Given the description of an element on the screen output the (x, y) to click on. 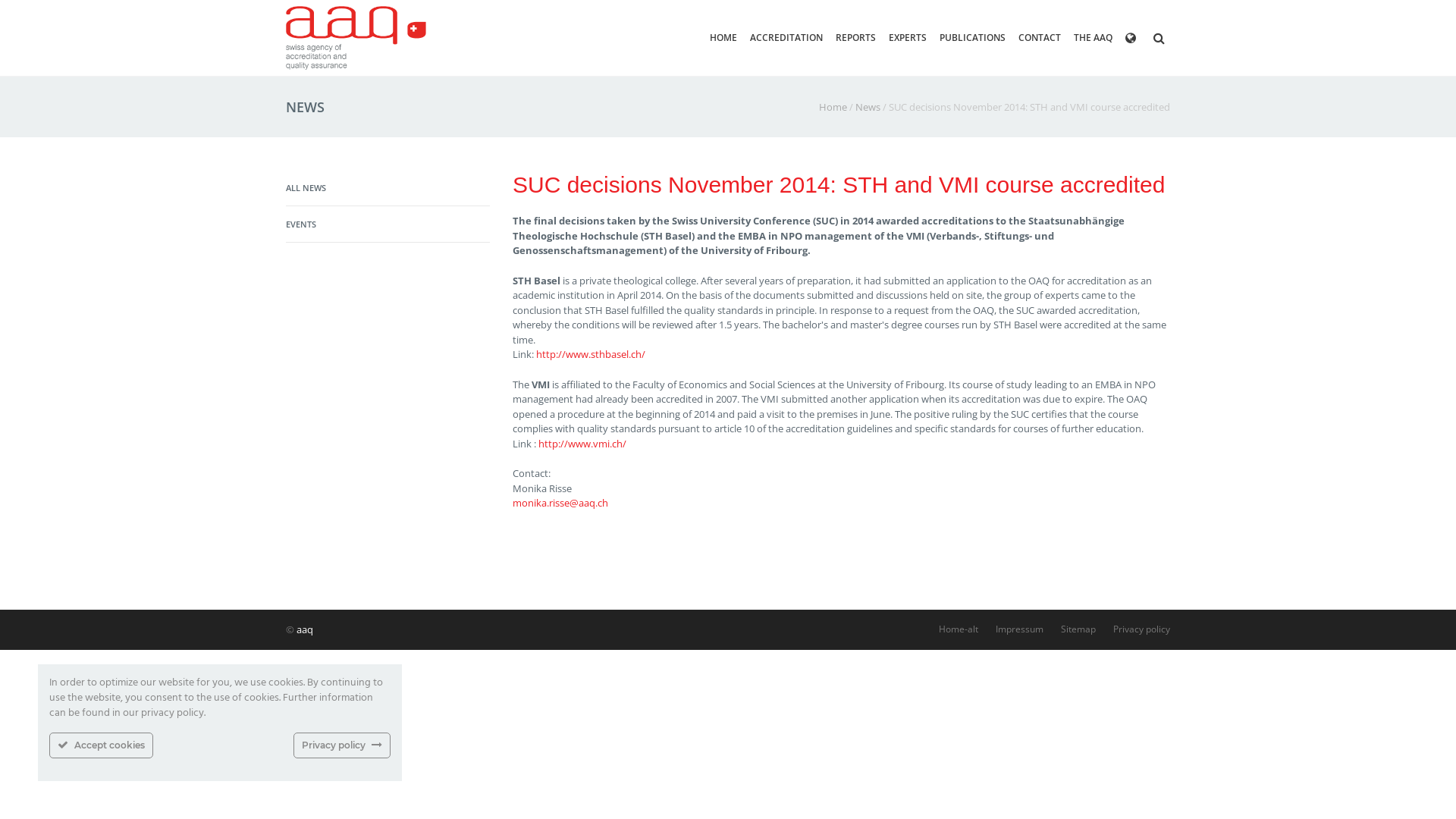
EVENTS Element type: text (300, 223)
Home-alt Element type: text (958, 629)
EXPERTS Element type: text (907, 37)
PUBLICATIONS Element type: text (972, 37)
http://www.sthbasel.ch/ Element type: text (590, 353)
Sitemap Element type: text (1077, 629)
REPORTS Element type: text (855, 37)
ACCREDITATION Element type: text (786, 37)
Privacy policy Element type: text (1141, 629)
HOME Element type: text (723, 37)
Impressum Element type: text (1019, 629)
monika.risse@aaq.ch Element type: text (560, 502)
Home Element type: text (833, 106)
http://www.vmi.ch/ Element type: text (582, 443)
aaq Element type: text (304, 628)
THE AAQ Element type: text (1093, 37)
ALL NEWS Element type: text (305, 187)
CONTACT Element type: text (1039, 37)
News Element type: text (867, 106)
